Given the description of an element on the screen output the (x, y) to click on. 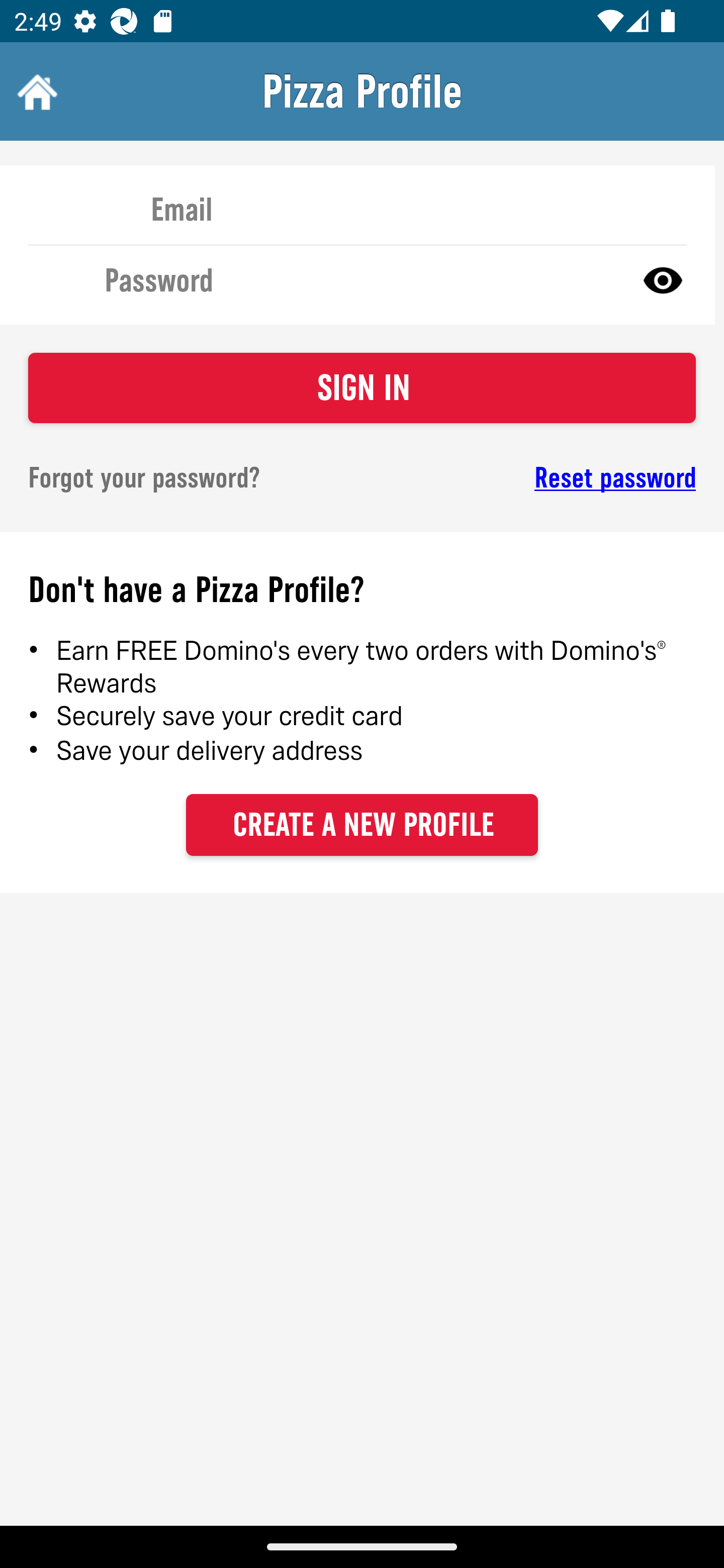
Home (35, 91)
Show Password (663, 279)
SIGN IN (361, 387)
Reset password (545, 477)
CREATE A NEW PROFILE (361, 824)
